Given the description of an element on the screen output the (x, y) to click on. 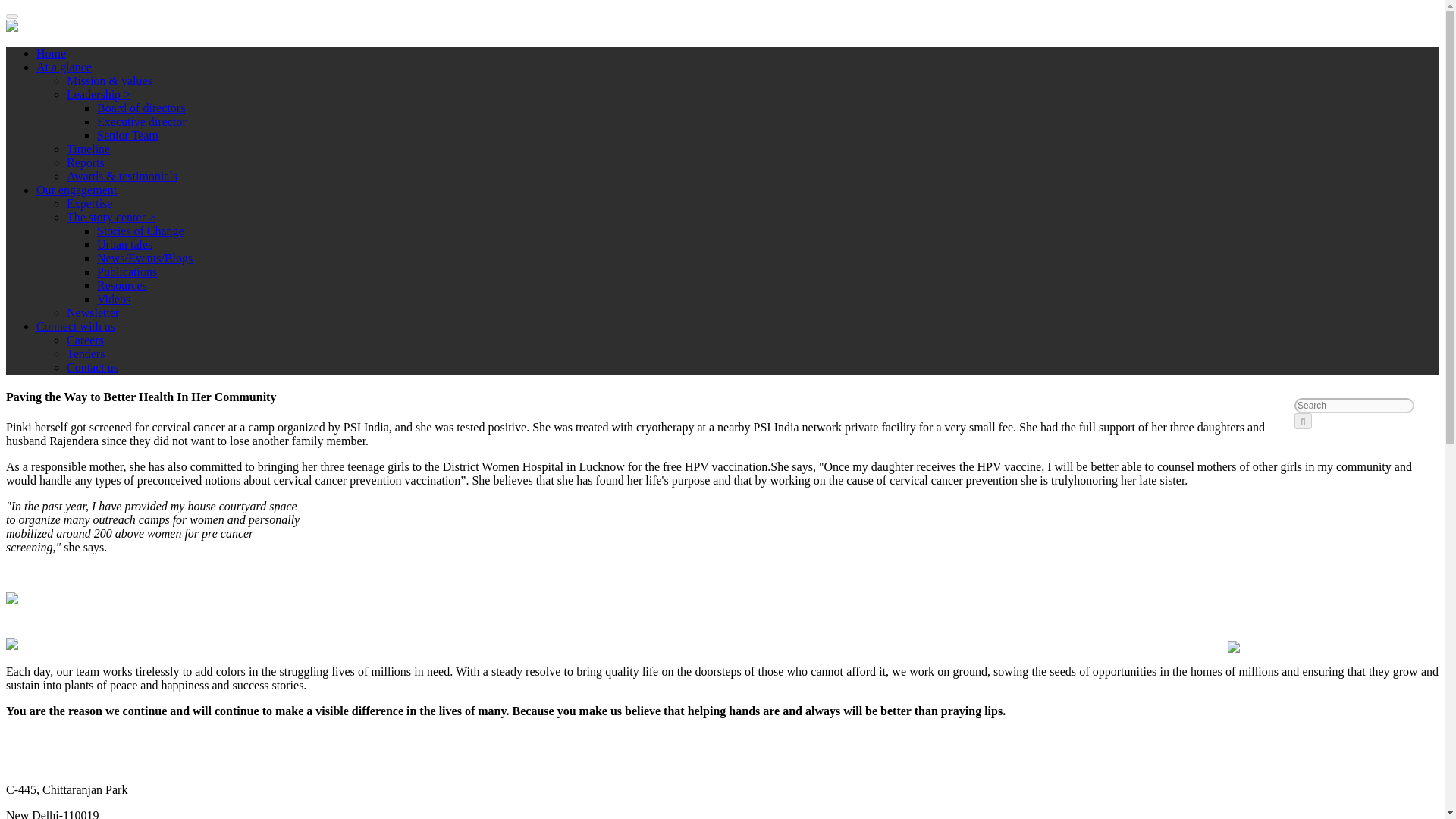
Board of directors (140, 107)
Reports (85, 162)
Resources (122, 285)
Expertise (89, 203)
Urban tales (124, 244)
Careers (84, 339)
Home (50, 52)
Stories of Change (140, 230)
Tenders (85, 353)
Videos (114, 298)
Executive director (141, 121)
Publications (127, 271)
Newsletter (92, 312)
Senior Team (127, 134)
Timeline (88, 148)
